Given the description of an element on the screen output the (x, y) to click on. 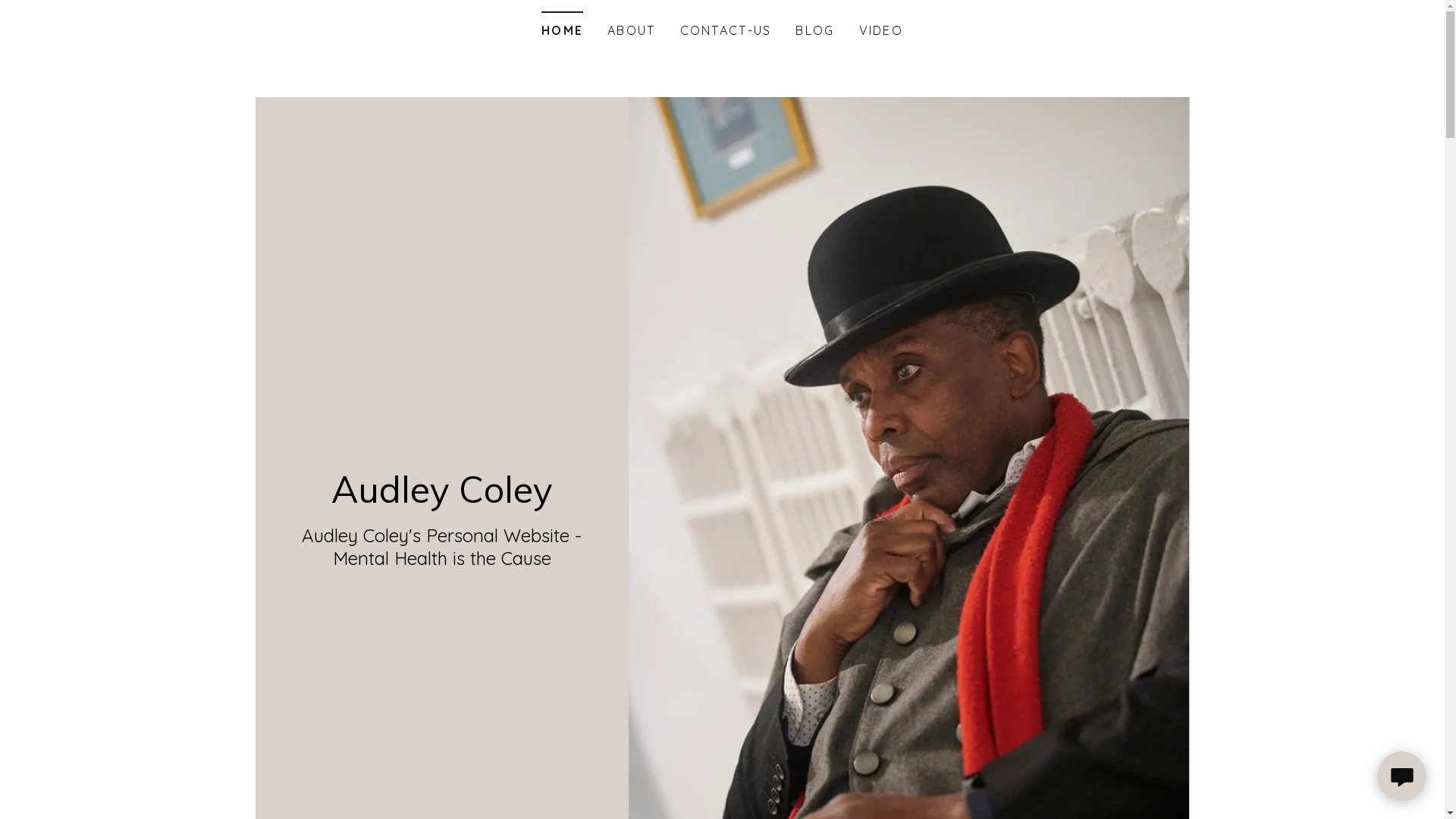
BLOG Element type: text (814, 29)
CONTACT-US Element type: text (725, 29)
ABOUT Element type: text (630, 29)
Audley Coley Element type: text (441, 497)
VIDEO Element type: text (880, 29)
HOME Element type: text (562, 25)
